Given the description of an element on the screen output the (x, y) to click on. 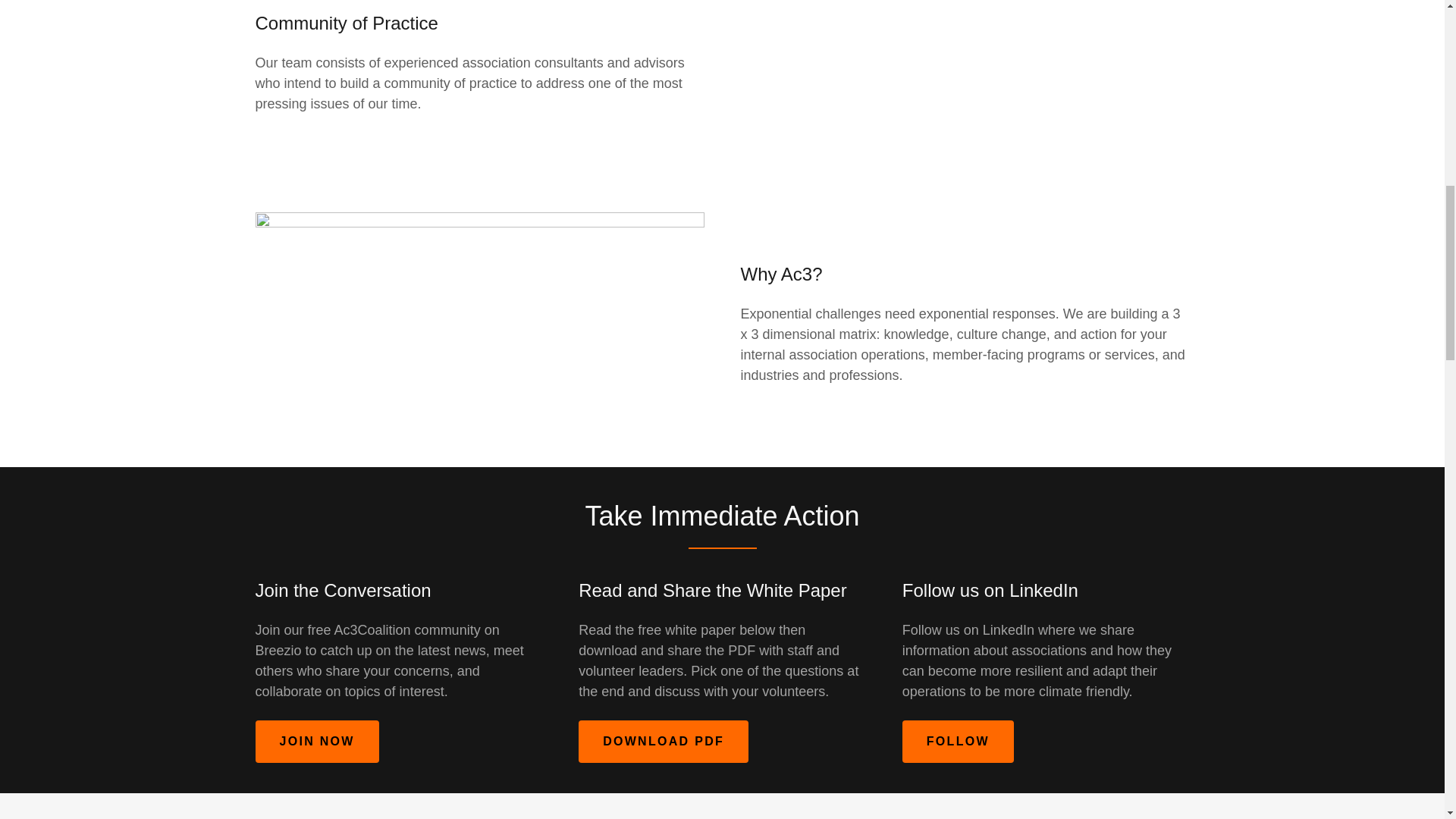
DOWNLOAD PDF (663, 741)
DECLINE (1203, 324)
ACCEPT (1345, 324)
JOIN NOW (316, 741)
FOLLOW (957, 741)
